Given the description of an element on the screen output the (x, y) to click on. 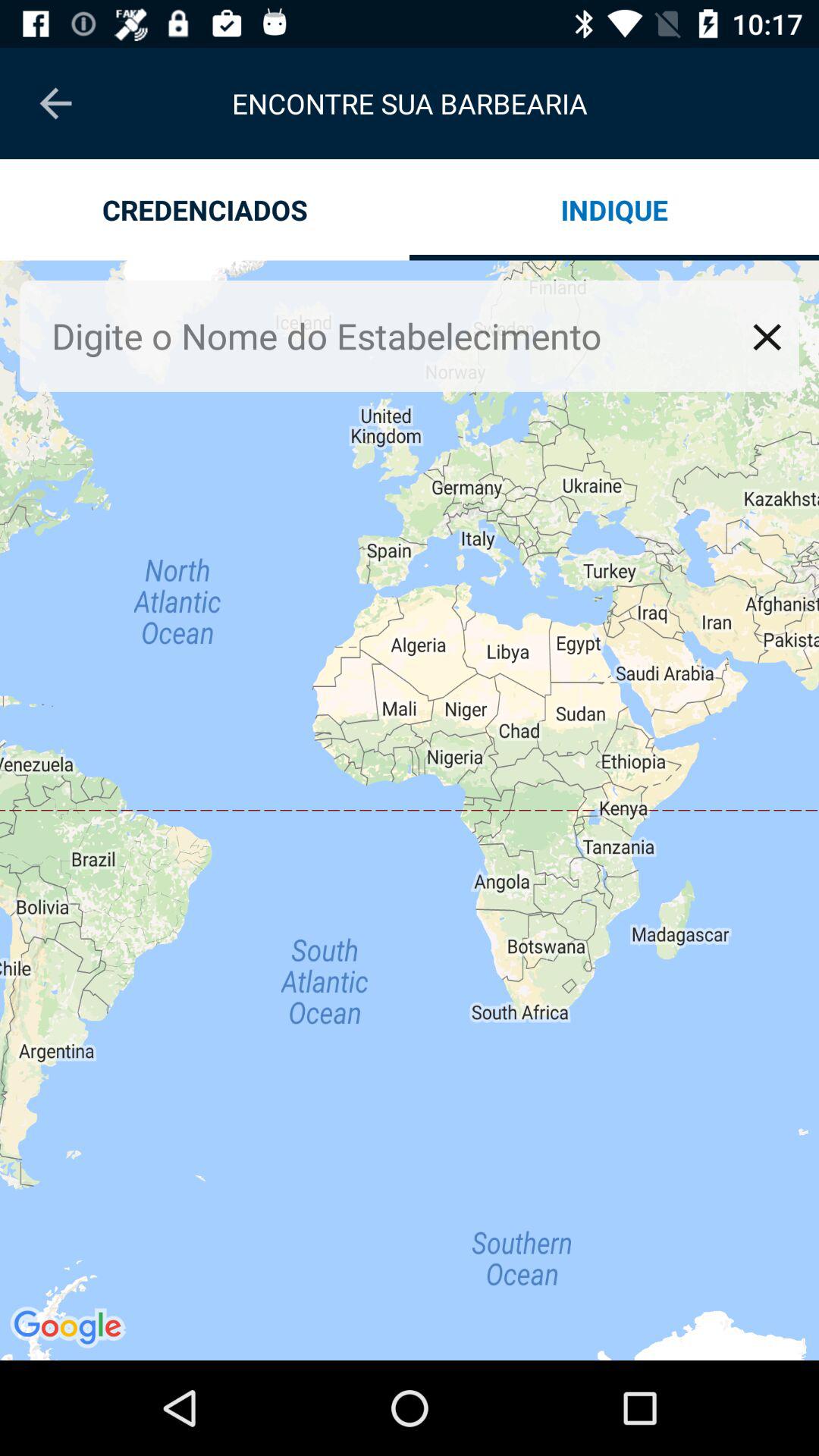
turn on the app next to the credenciados app (614, 209)
